Given the description of an element on the screen output the (x, y) to click on. 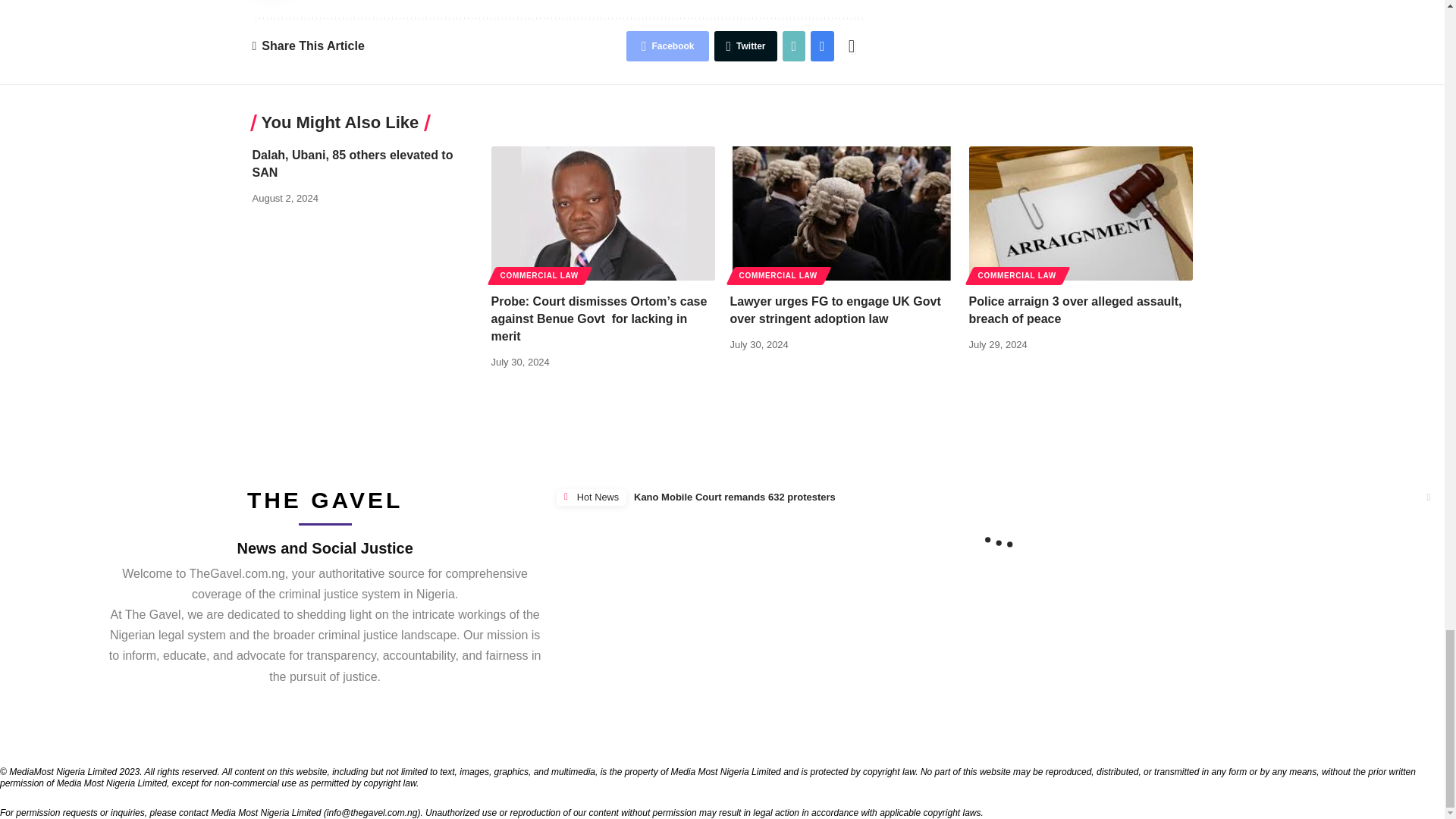
Twitter (745, 46)
Police arraign 3 over alleged assault, breach of peace (1080, 213)
Facebook (668, 46)
